Given the description of an element on the screen output the (x, y) to click on. 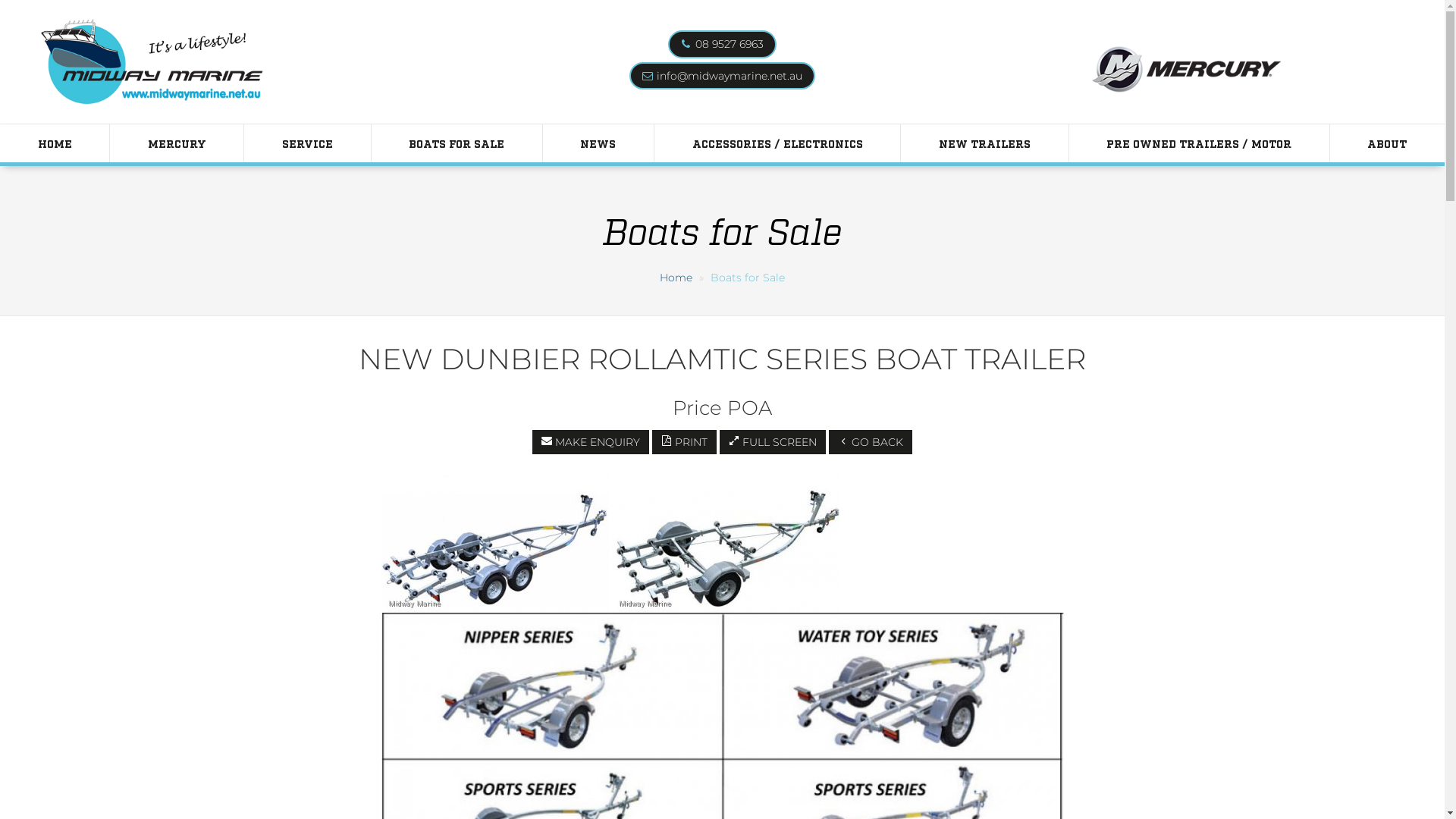
PRE OWNED TRAILERS / MOTOR Element type: text (1199, 143)
MAKE ENQUIRY Element type: text (590, 441)
NEWS Element type: text (597, 143)
ABOUT Element type: text (1387, 143)
info@midwaymarine.net.au Element type: text (729, 74)
MERCURY Element type: text (176, 143)
ACCESSORIES / ELECTRONICS Element type: text (777, 143)
NEW DUNBIER ROLLAMTIC SERIES BOAT TRAILER Element type: hover (724, 542)
GO BACK Element type: text (870, 441)
NEW DUNBIER ROLLAMTIC SERIES BOAT TRAILER Element type: hover (494, 542)
Home Element type: text (675, 277)
PRINT Element type: text (684, 441)
HOME Element type: text (54, 143)
NEW TRAILERS Element type: text (983, 143)
08 9527 6963 Element type: text (729, 43)
BOATS FOR SALE Element type: text (456, 143)
Midway Marine Element type: hover (151, 61)
SERVICE Element type: text (307, 143)
FULL SCREEN Element type: text (772, 441)
